Given the description of an element on the screen output the (x, y) to click on. 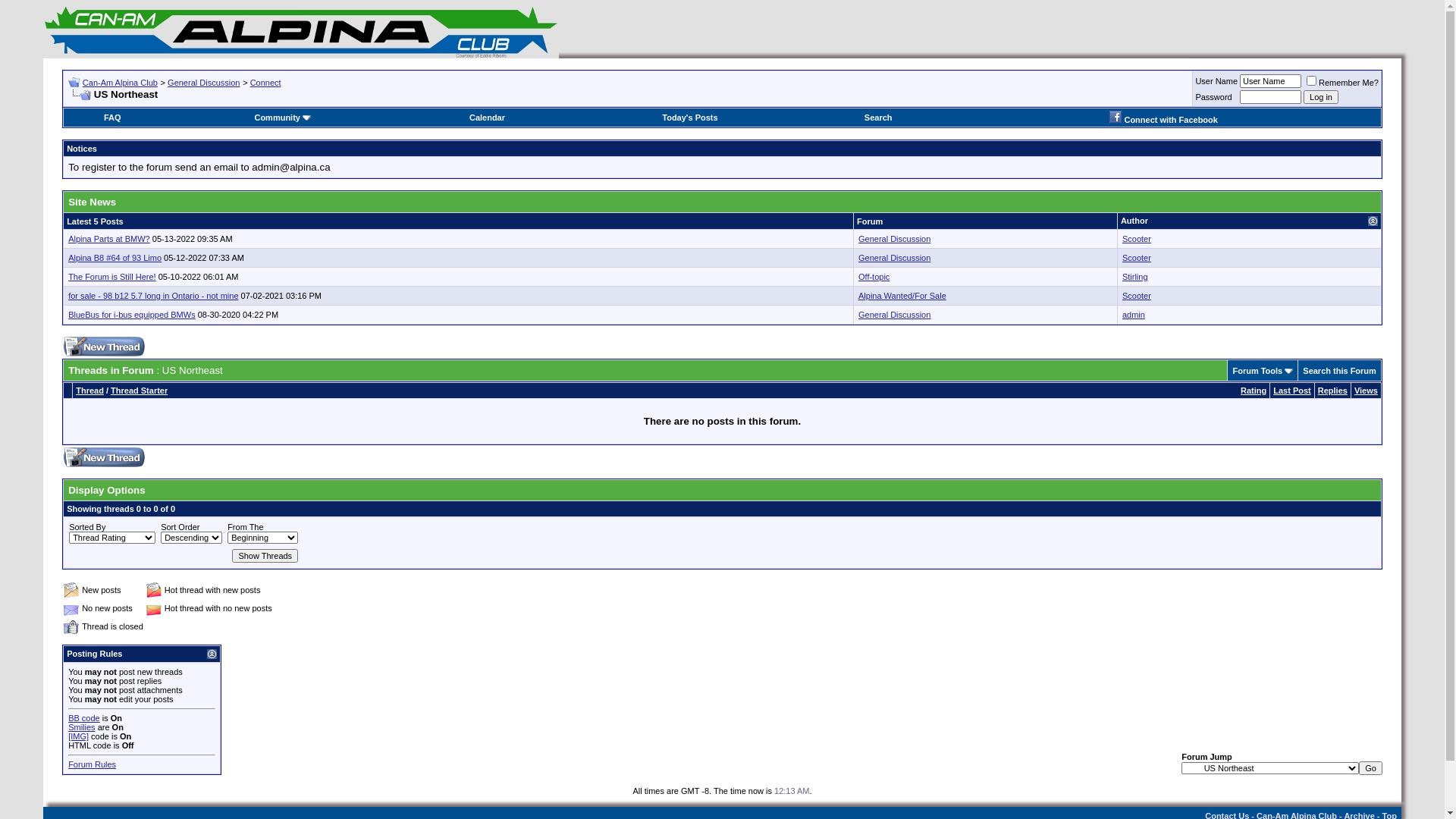
Community Element type: text (282, 117)
BB code Element type: text (84, 717)
FAQ Element type: text (112, 117)
General Discussion Element type: text (894, 238)
Connect Element type: text (265, 82)
Rating Element type: text (1253, 390)
Forum Tools Element type: text (1257, 369)
Scooter Element type: text (1136, 257)
for sale - 98 b12 5.7 long in Ontario - not mine Element type: text (153, 295)
No new posts Element type: hover (70, 607)
Post New Thread Element type: hover (103, 457)
Go Element type: text (1370, 768)
Scooter Element type: text (1136, 238)
Views Element type: text (1365, 390)
More than 15 replies or 150 views Element type: hover (153, 589)
admin Element type: text (1133, 314)
Can-Am Alpina Club Element type: hover (300, 30)
Scooter Element type: text (1136, 295)
Search this Forum Element type: text (1339, 369)
Alpina Parts at BMW? Element type: text (109, 238)
Can-Am Alpina Club Element type: text (119, 82)
BlueBus for i-bus equipped BMWs Element type: text (131, 314)
Alpina Wanted/For Sale Element type: text (902, 295)
New posts Element type: hover (70, 589)
The Forum is Still Here! Element type: text (112, 276)
Off-topic Element type: text (873, 276)
General Discussion Element type: text (203, 82)
Replies Element type: text (1332, 390)
Connect with Facebook Element type: text (1163, 119)
Last Post Element type: text (1292, 390)
Calendar Element type: text (487, 117)
Log in Element type: text (1320, 96)
Show Threads Element type: text (265, 555)
General Discussion Element type: text (894, 257)
Stirling Element type: text (1135, 276)
Smilies Element type: text (81, 726)
Today's Posts Element type: text (689, 117)
Post New Thread Element type: hover (103, 346)
Reload this Page Element type: hover (79, 94)
Search Element type: text (878, 117)
Go Back Element type: hover (73, 81)
Forum Rules Element type: text (92, 763)
More than 15 replies or 150 views Element type: hover (153, 607)
Alpina B8 #64 of 93 Limo Element type: text (114, 257)
Thread Element type: text (89, 390)
Thread Starter Element type: text (138, 390)
[IMG] Element type: text (78, 735)
General Discussion Element type: text (894, 314)
Closed Thread Element type: hover (70, 625)
